Given the description of an element on the screen output the (x, y) to click on. 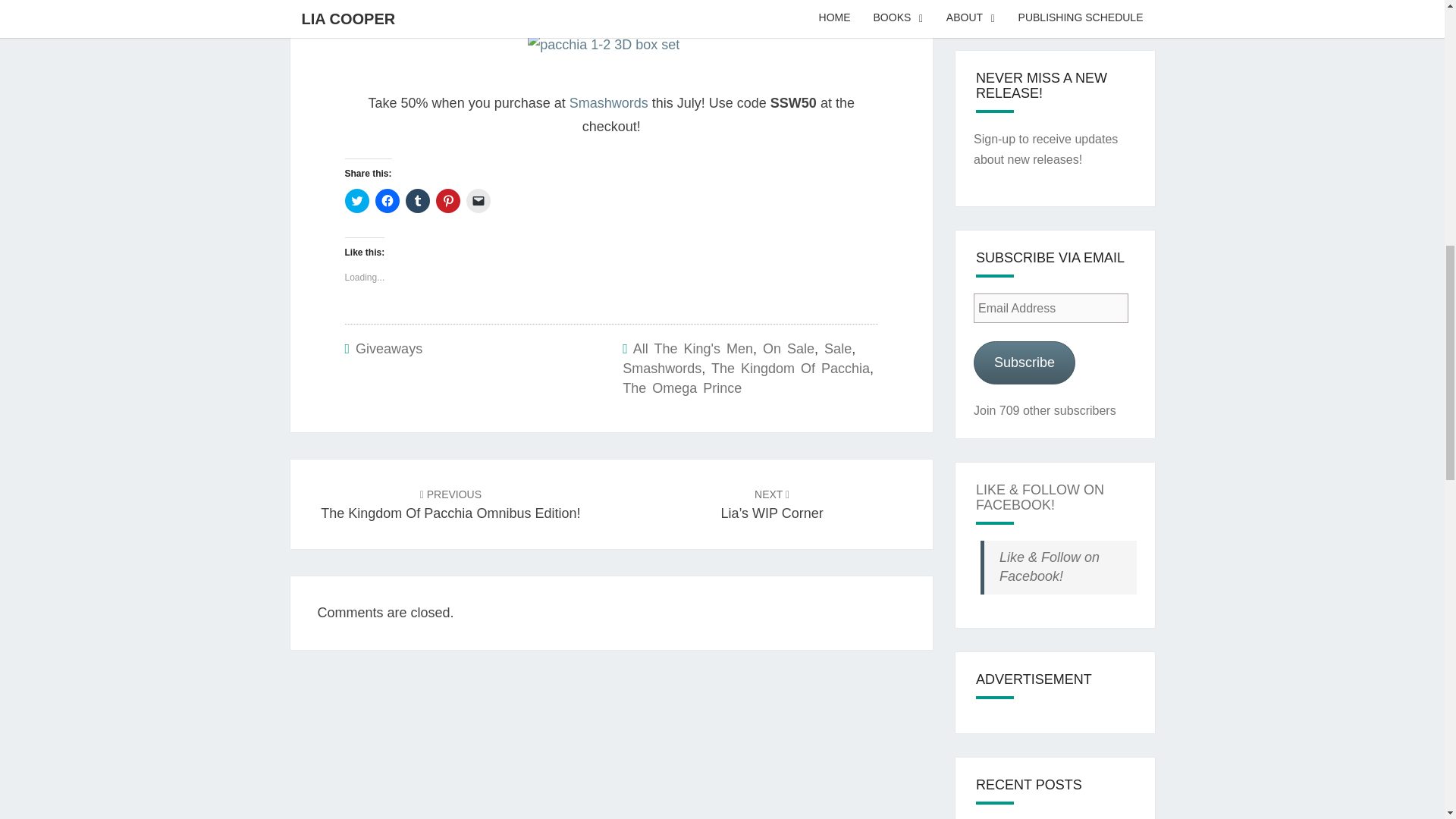
All The King'S Men (692, 348)
Click to share on Twitter (355, 200)
Smashwords (662, 368)
Giveaways (388, 348)
Click to share on Pinterest (447, 200)
On Sale (787, 348)
Smashwords (608, 102)
Click to email a link to a friend (449, 503)
The Kingdom Of Pacchia (477, 200)
